Given the description of an element on the screen output the (x, y) to click on. 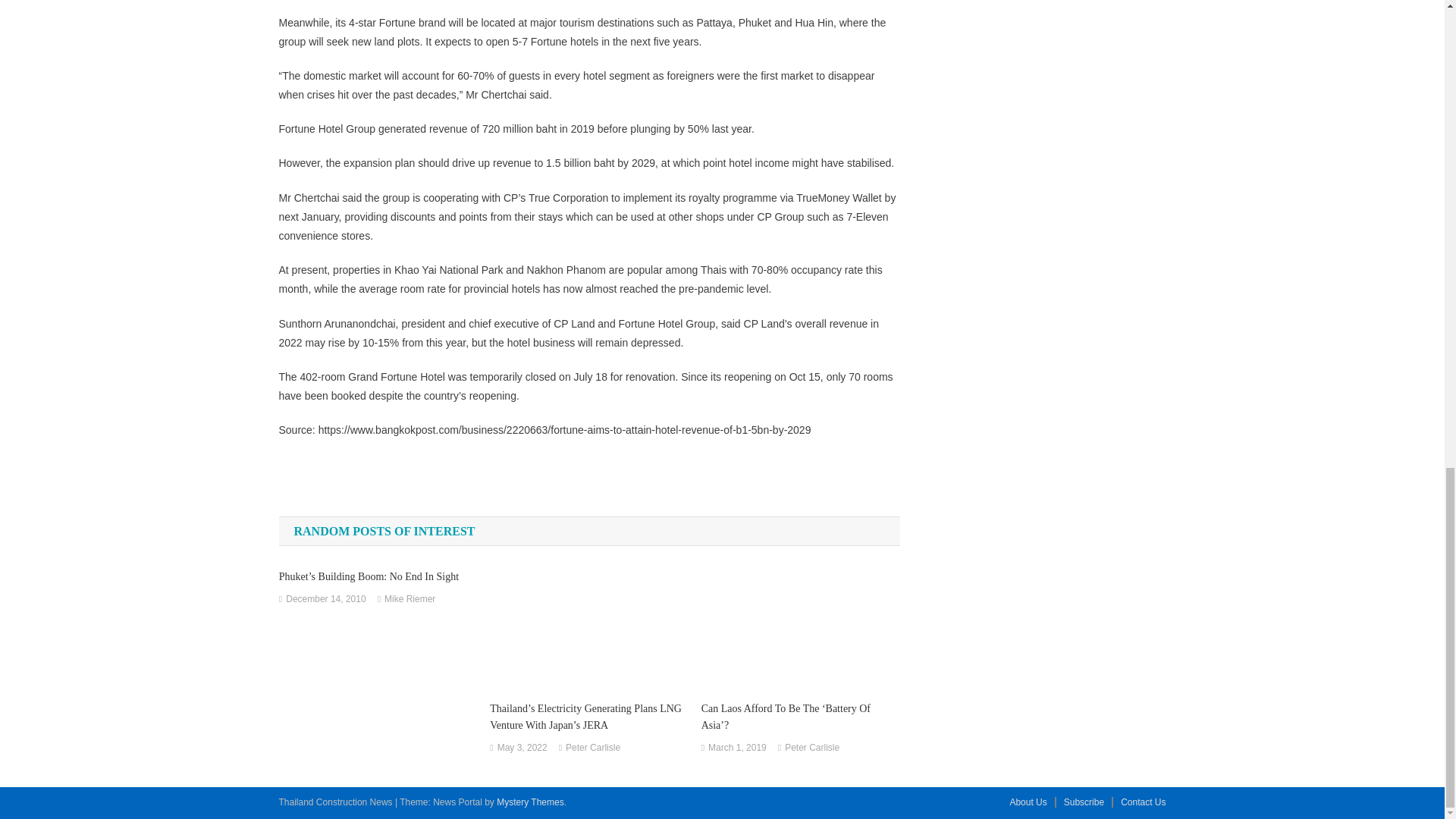
Peter Carlisle (593, 748)
Mike Riemer (409, 599)
March 1, 2019 (737, 748)
May 3, 2022 (522, 748)
December 14, 2010 (325, 599)
